Given the description of an element on the screen output the (x, y) to click on. 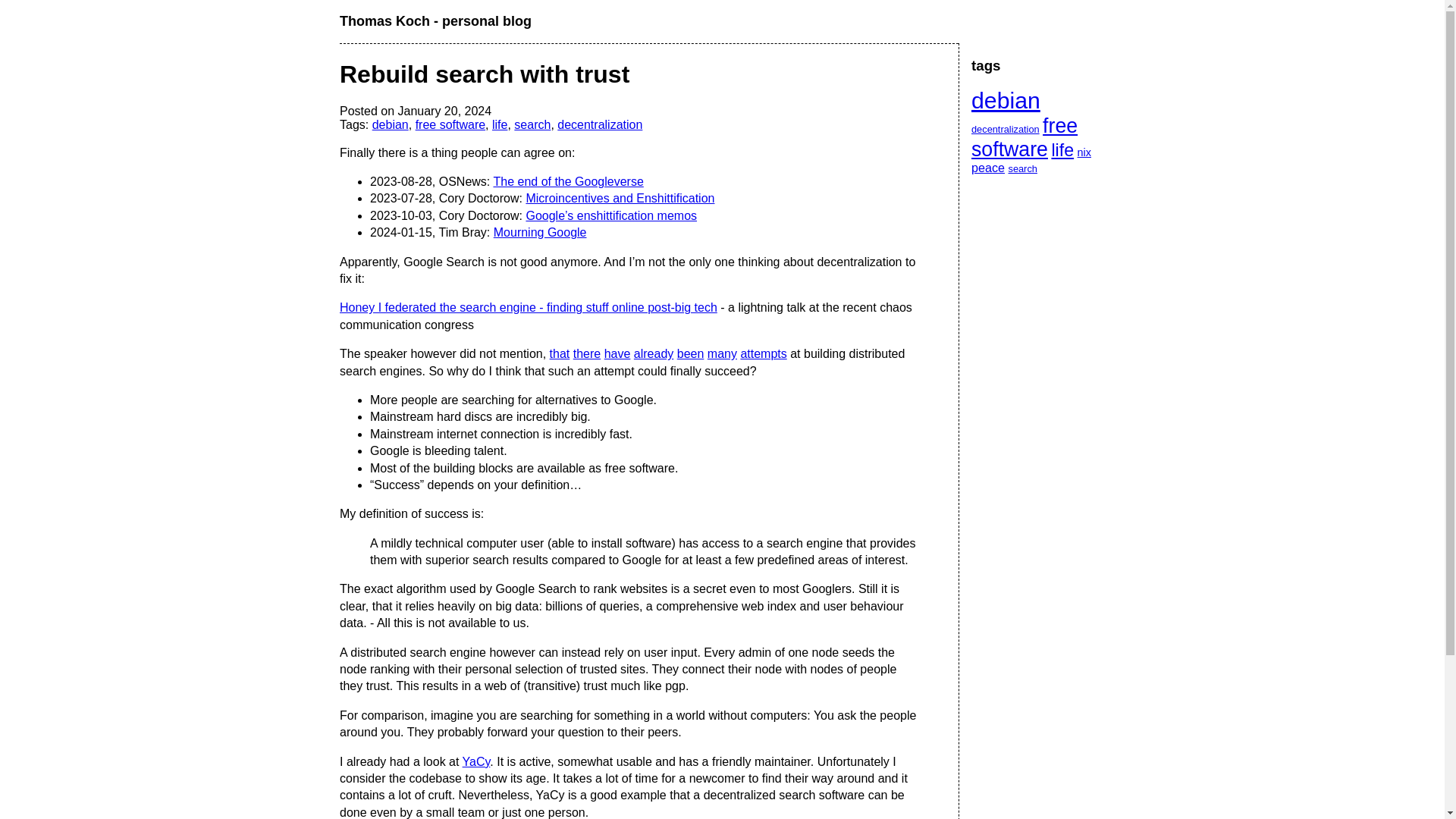
life (499, 124)
have (617, 353)
debian (390, 124)
many (721, 353)
Microincentives and Enshittification (619, 197)
All pages tagged 'debian'. (390, 124)
All pages tagged 'life'. (499, 124)
All pages tagged 'search'. (531, 124)
All pages tagged 'free software'. (449, 124)
